Given the description of an element on the screen output the (x, y) to click on. 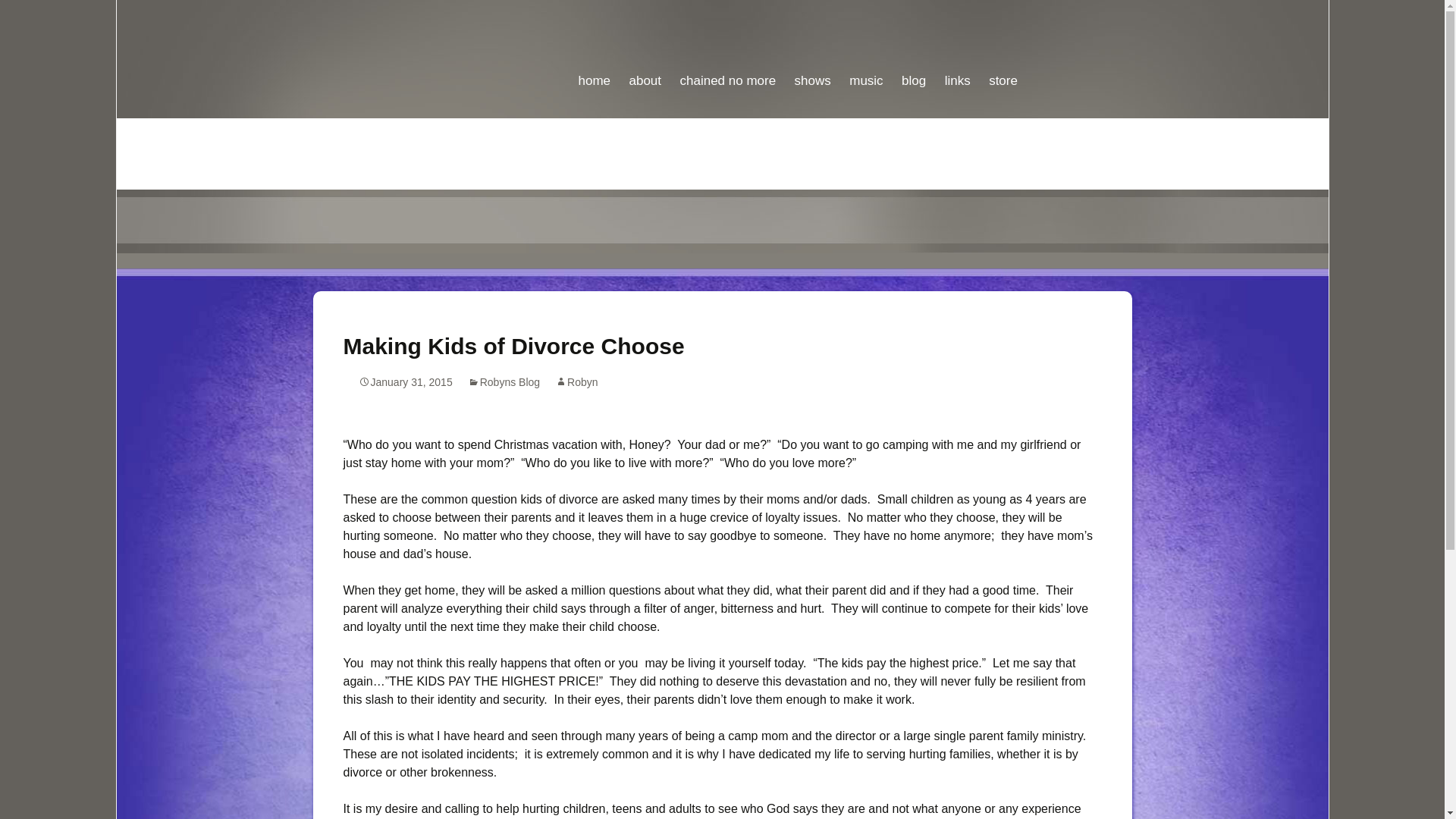
links (957, 47)
Permalink to Making Kids of Divorce Choose (404, 381)
connect (600, 142)
Robynbministries (722, 49)
about (644, 47)
store (1003, 47)
home (593, 47)
View all posts by Robyn (575, 381)
January 31, 2015 (404, 381)
Robyns Blog (503, 381)
Robyn (575, 381)
music (865, 47)
chained no more (727, 47)
shows (812, 47)
blog (913, 47)
